Given the description of an element on the screen output the (x, y) to click on. 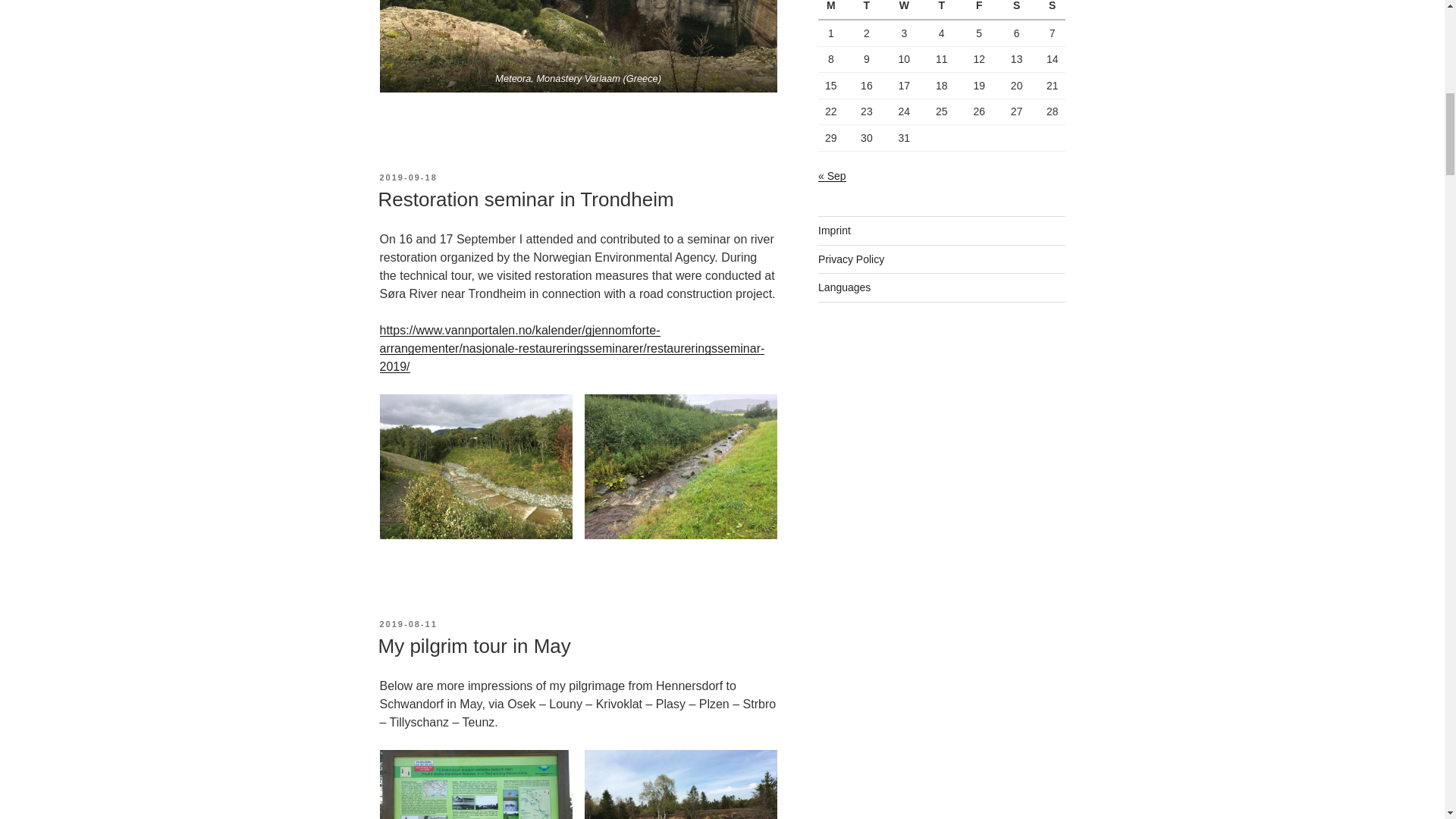
Friday (978, 9)
Thursday (941, 9)
My pilgrim tour in May (473, 645)
Restoration seminar in Trondheim (524, 199)
Imprint (834, 230)
Saturday (1016, 9)
2019-09-18 (407, 176)
Sunday (1049, 9)
2019-08-11 (407, 623)
Tuesday (866, 9)
Privacy Policy (850, 259)
Languages (844, 287)
Wednesday (904, 9)
Monday (832, 9)
